Given the description of an element on the screen output the (x, y) to click on. 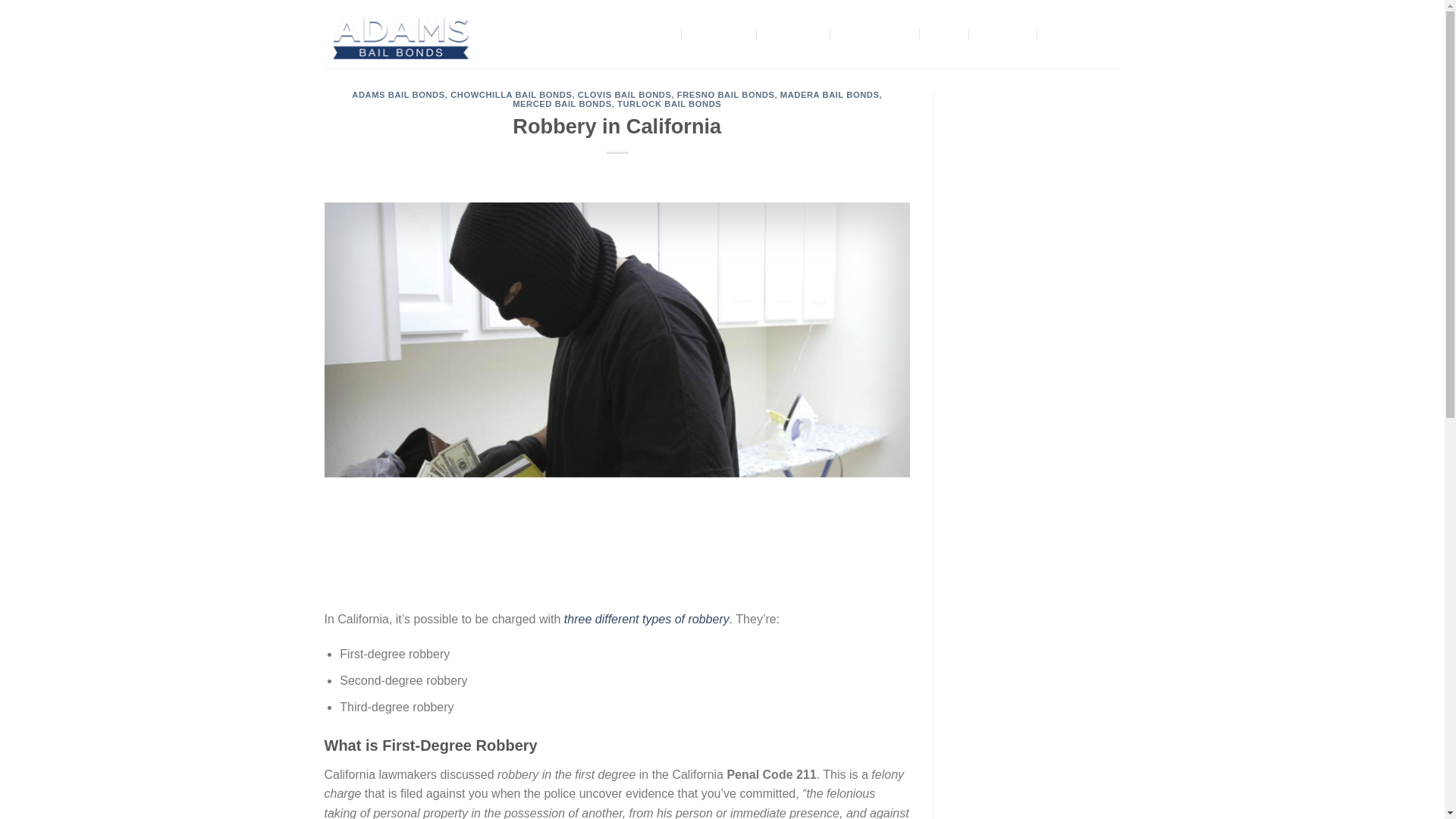
HOME (658, 33)
MERCED BAIL BONDS (561, 103)
CONTACT US (1082, 33)
FRESNO BAIL BONDS (725, 94)
CLOVIS BAIL BONDS (624, 94)
TURLOCK BAIL BONDS (668, 103)
REVIEWS (1004, 33)
LOCATIONS (877, 33)
SERVICES (795, 33)
ABOUT US (720, 33)
